Given the description of an element on the screen output the (x, y) to click on. 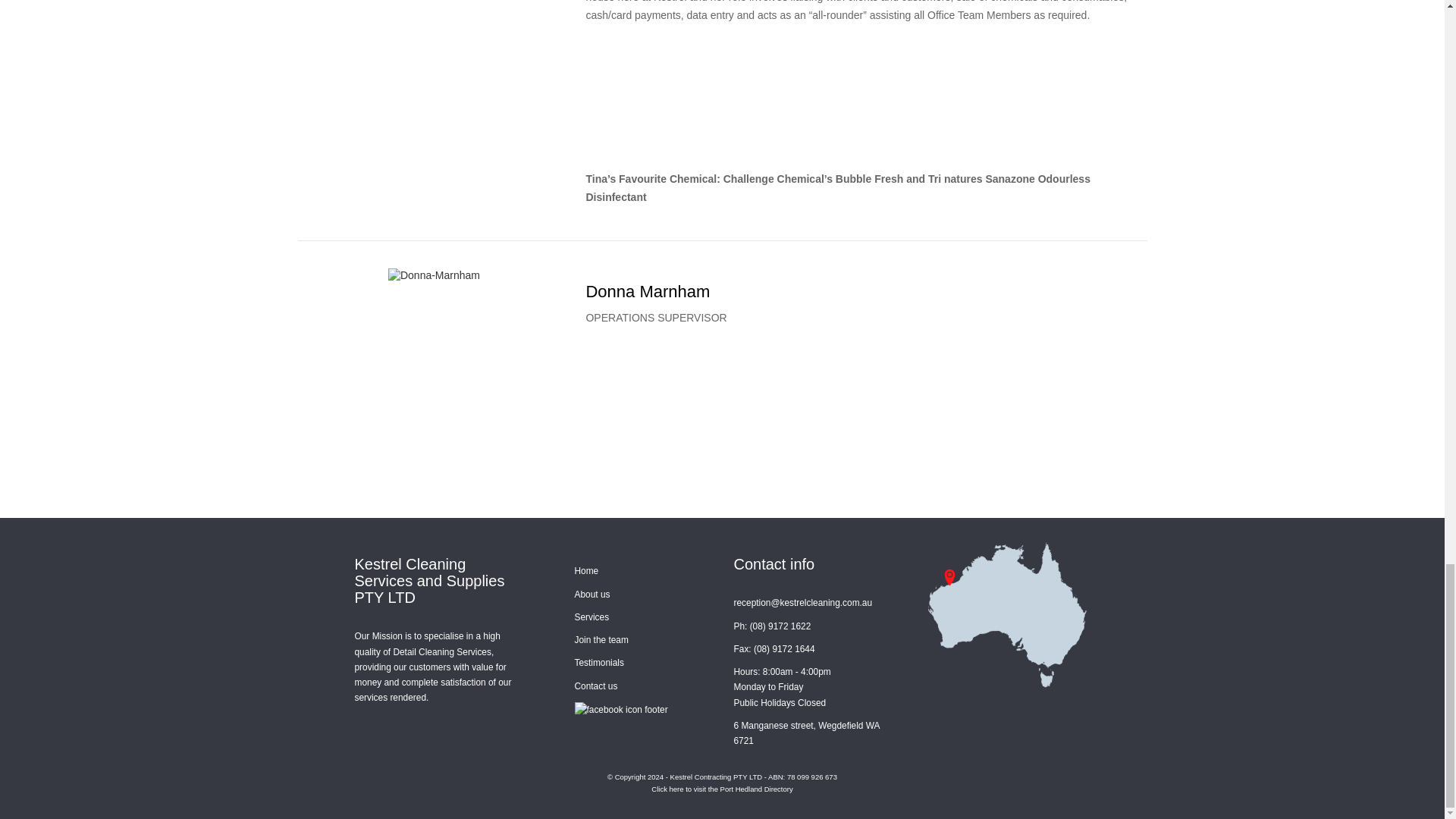
About us (592, 593)
Join the team (601, 639)
Services (592, 616)
Testimonials (599, 662)
Contact us (596, 685)
Home (586, 570)
Port Hedland Directory (756, 788)
Donna-Marnham (434, 275)
